Given the description of an element on the screen output the (x, y) to click on. 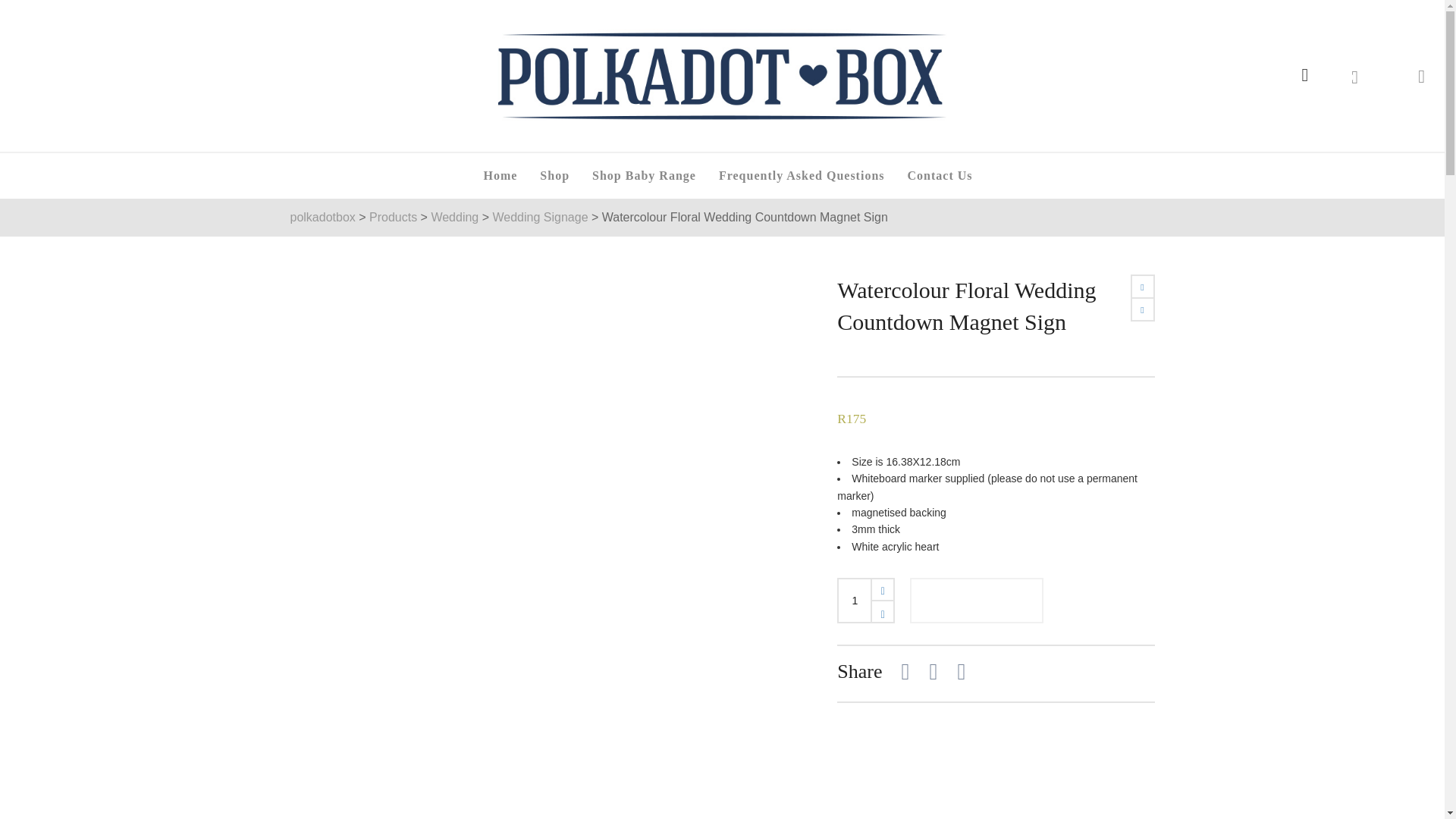
Go to the Wedding Signage Category archives. (540, 216)
Go to polkadotbox. (322, 216)
Go to the Wedding Category archives. (454, 216)
Go to Products. (392, 216)
